Given the description of an element on the screen output the (x, y) to click on. 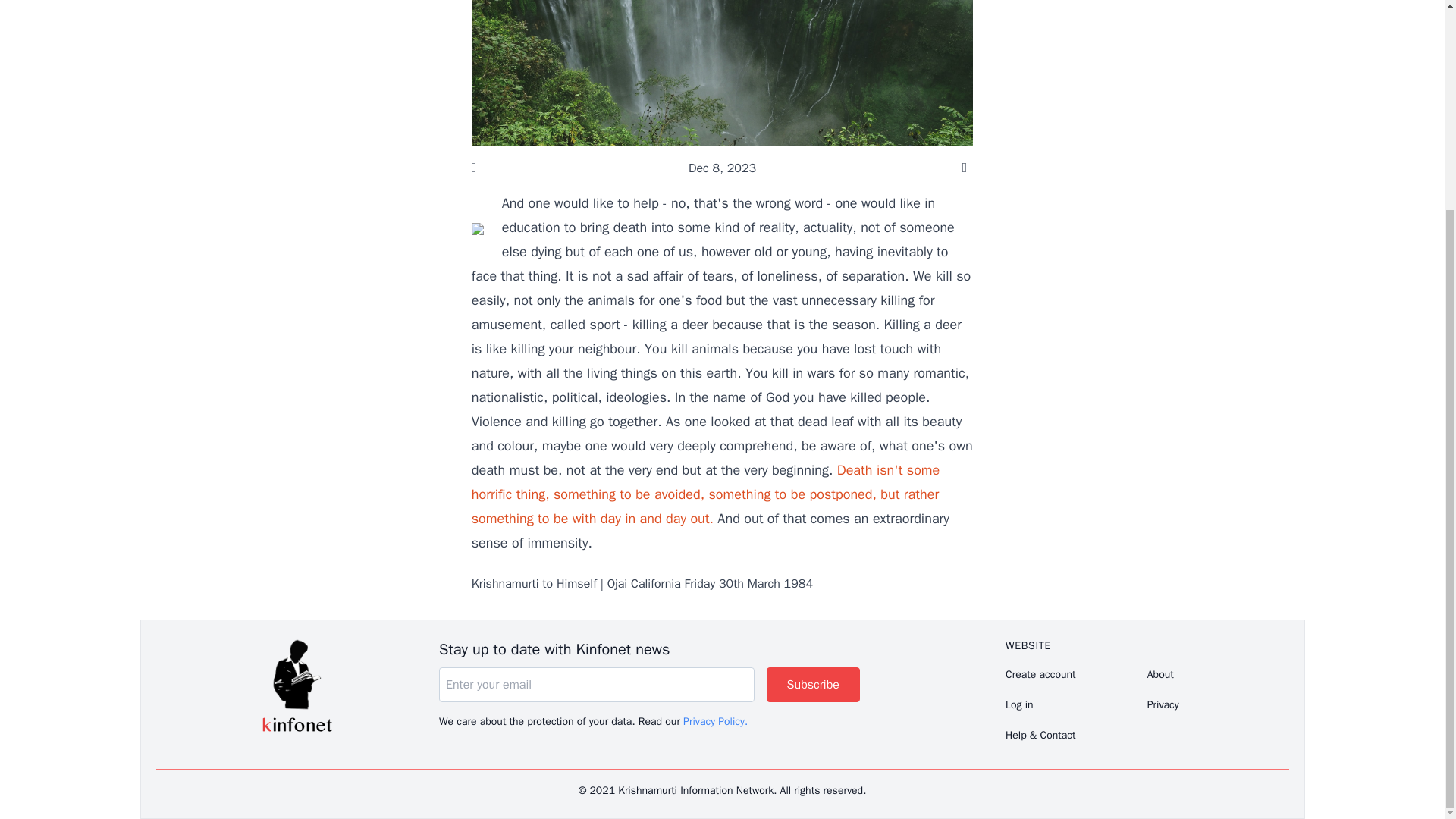
Log in (1076, 705)
Create account (1076, 674)
Subscribe (813, 684)
Privacy Policy. (715, 721)
Subscribe (813, 684)
